Given the description of an element on the screen output the (x, y) to click on. 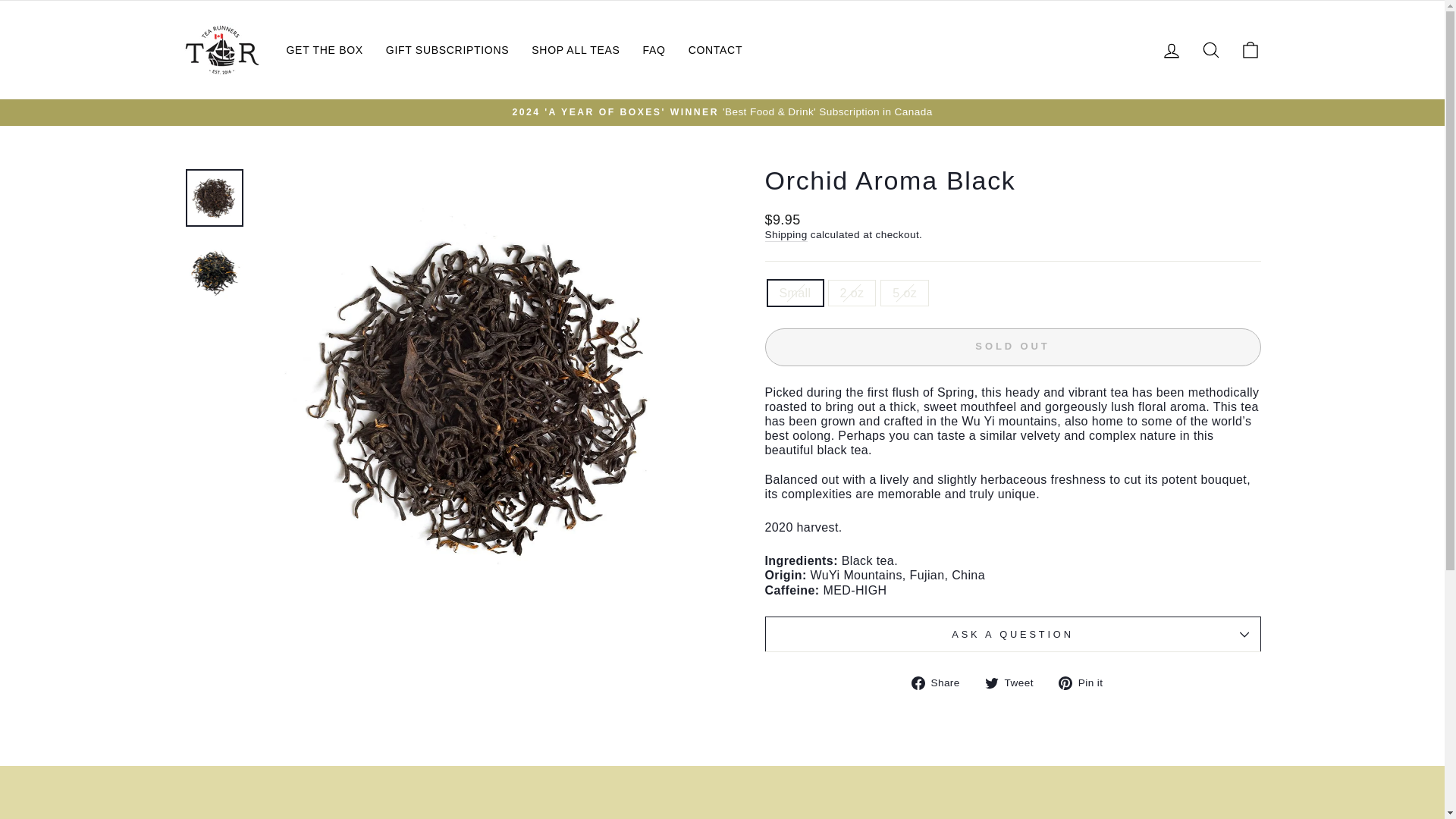
CONTACT (715, 49)
SHOP ALL TEAS (574, 49)
SOLD OUT (1012, 347)
Shipping (785, 235)
Share on Facebook (941, 682)
GIFT SUBSCRIPTIONS (446, 49)
GET THE BOX (324, 49)
FAQ (654, 49)
